Given the description of an element on the screen output the (x, y) to click on. 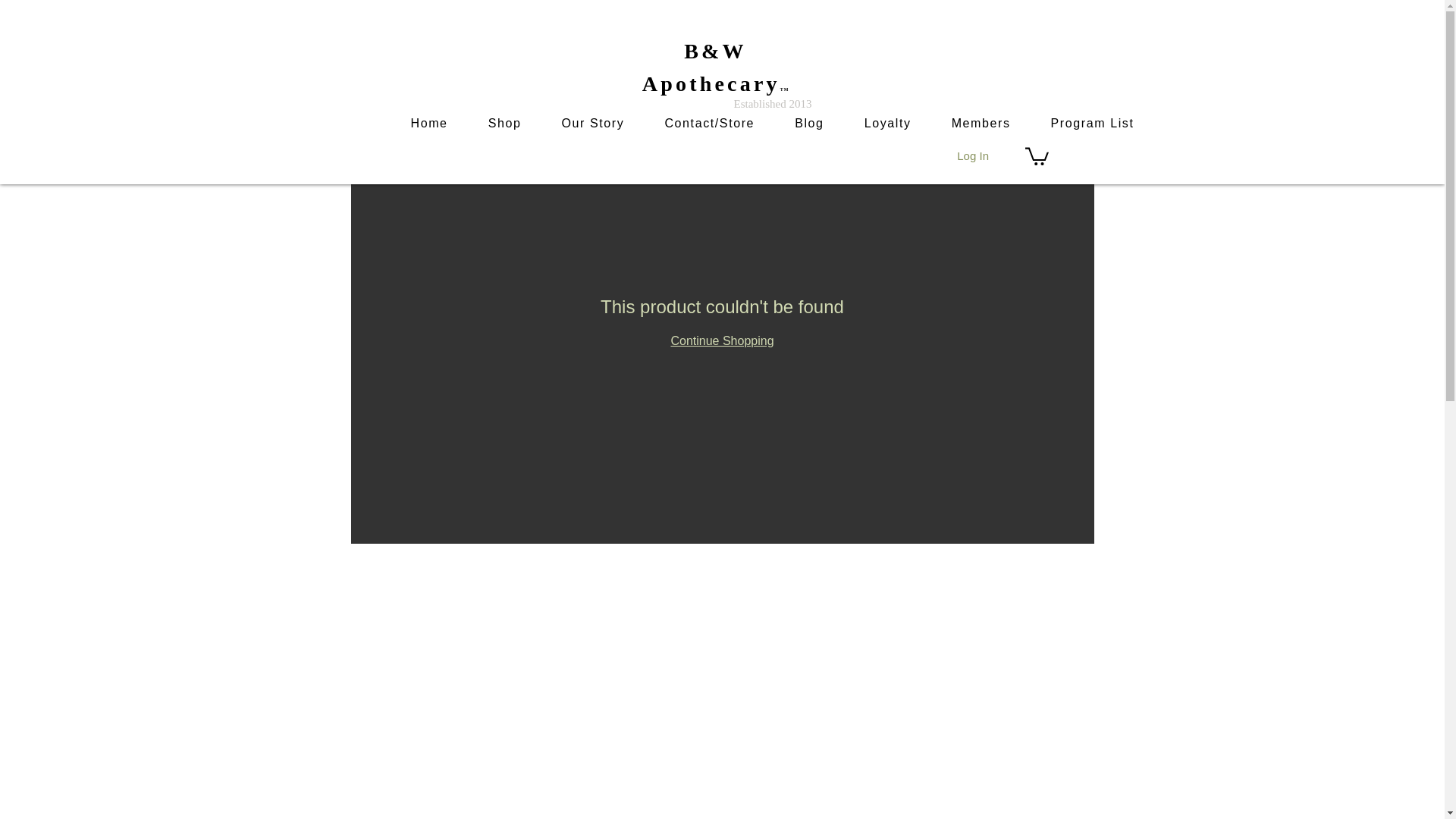
Shop (504, 123)
Our Story (593, 123)
Home (428, 123)
Log In (972, 155)
Loyalty (887, 123)
Members (980, 123)
Program List (1092, 123)
Continue Shopping (721, 340)
Blog (809, 123)
TM (784, 88)
